Given the description of an element on the screen output the (x, y) to click on. 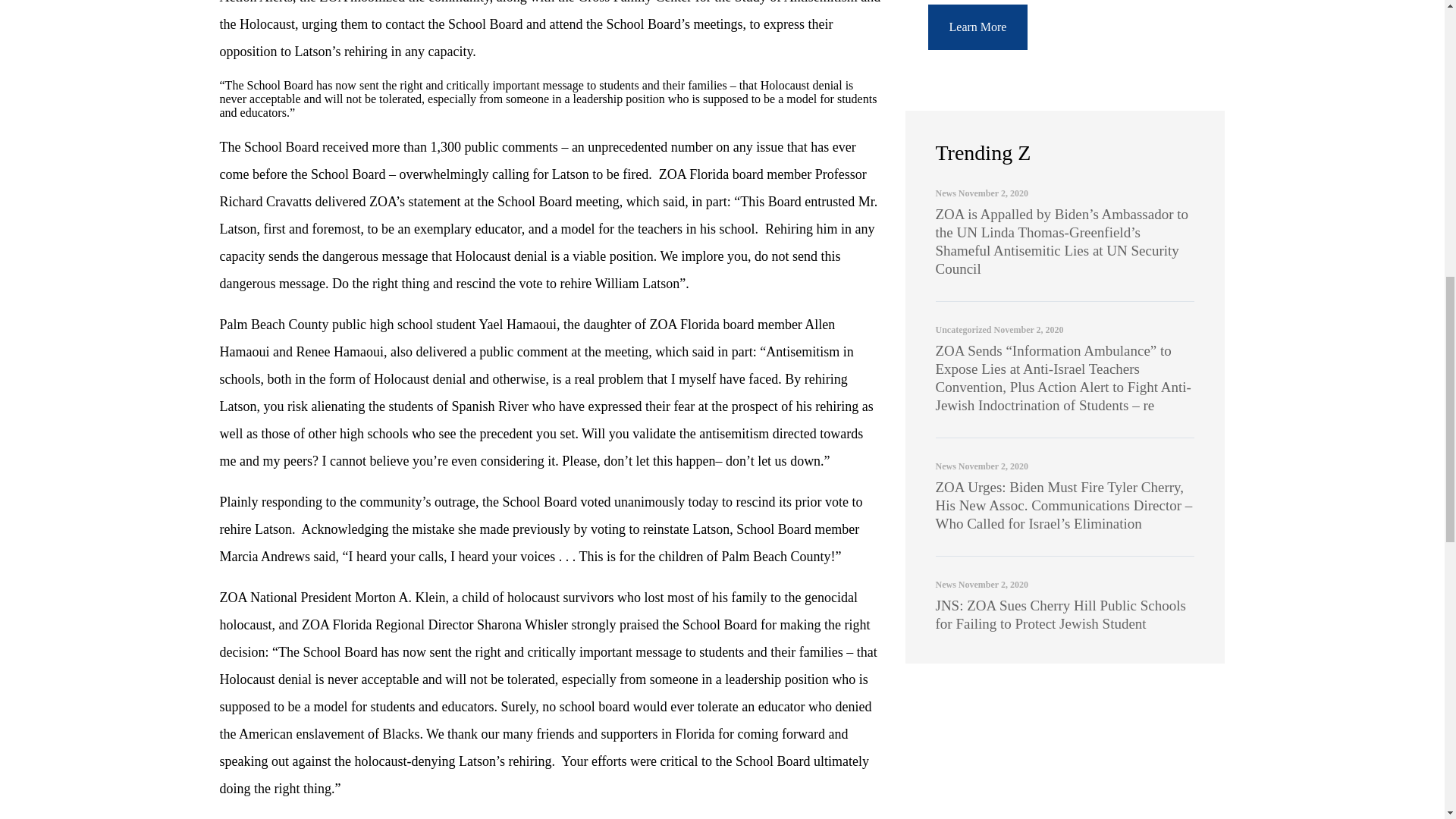
Uncategorized (963, 329)
News (946, 466)
News (946, 193)
News (946, 584)
